Given the description of an element on the screen output the (x, y) to click on. 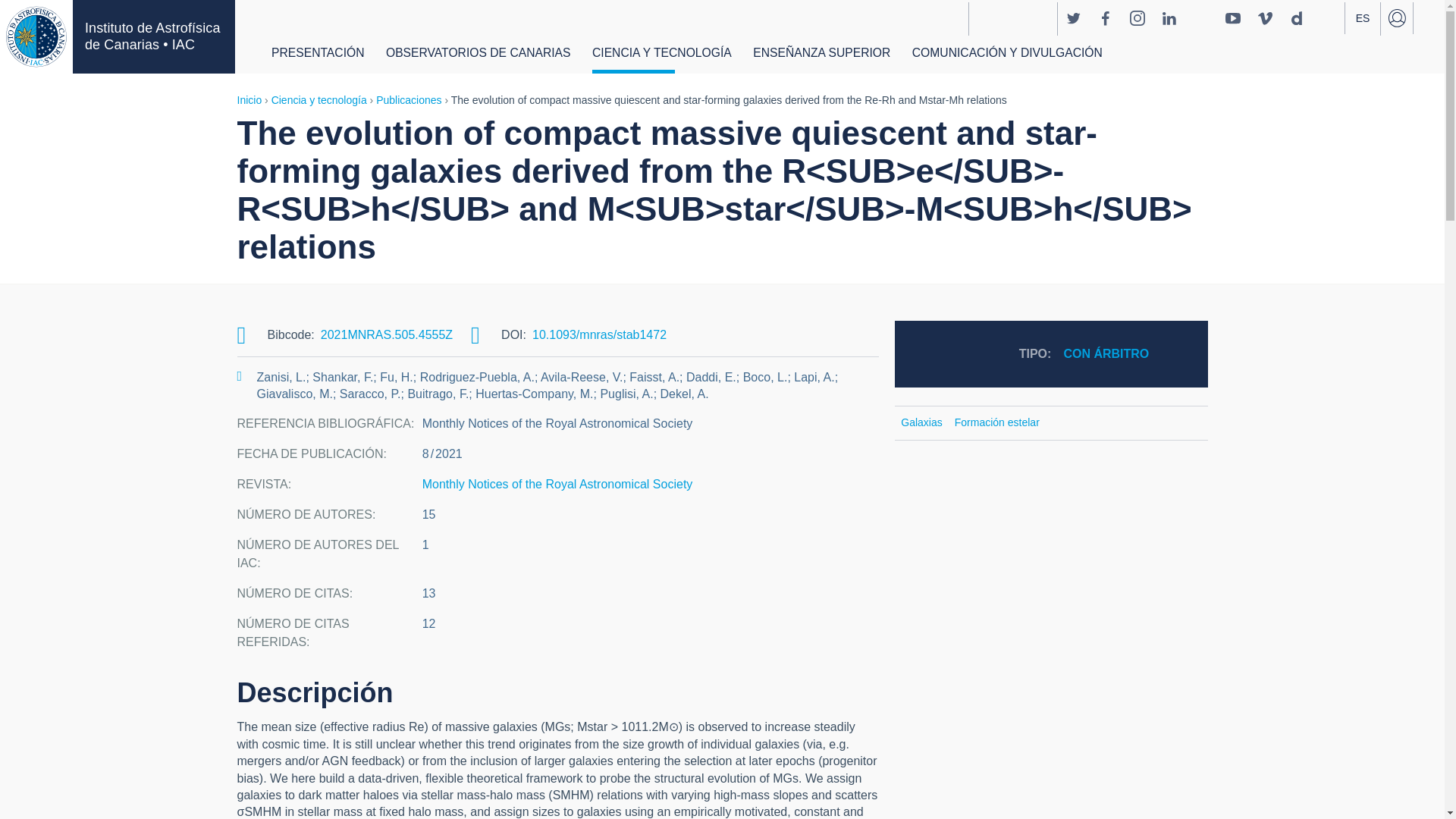
ES (1362, 19)
severoochoa (1012, 19)
Inicio (153, 36)
OBSERVATORIOS DE CANARIAS (477, 55)
Inicio (36, 36)
